Given the description of an element on the screen output the (x, y) to click on. 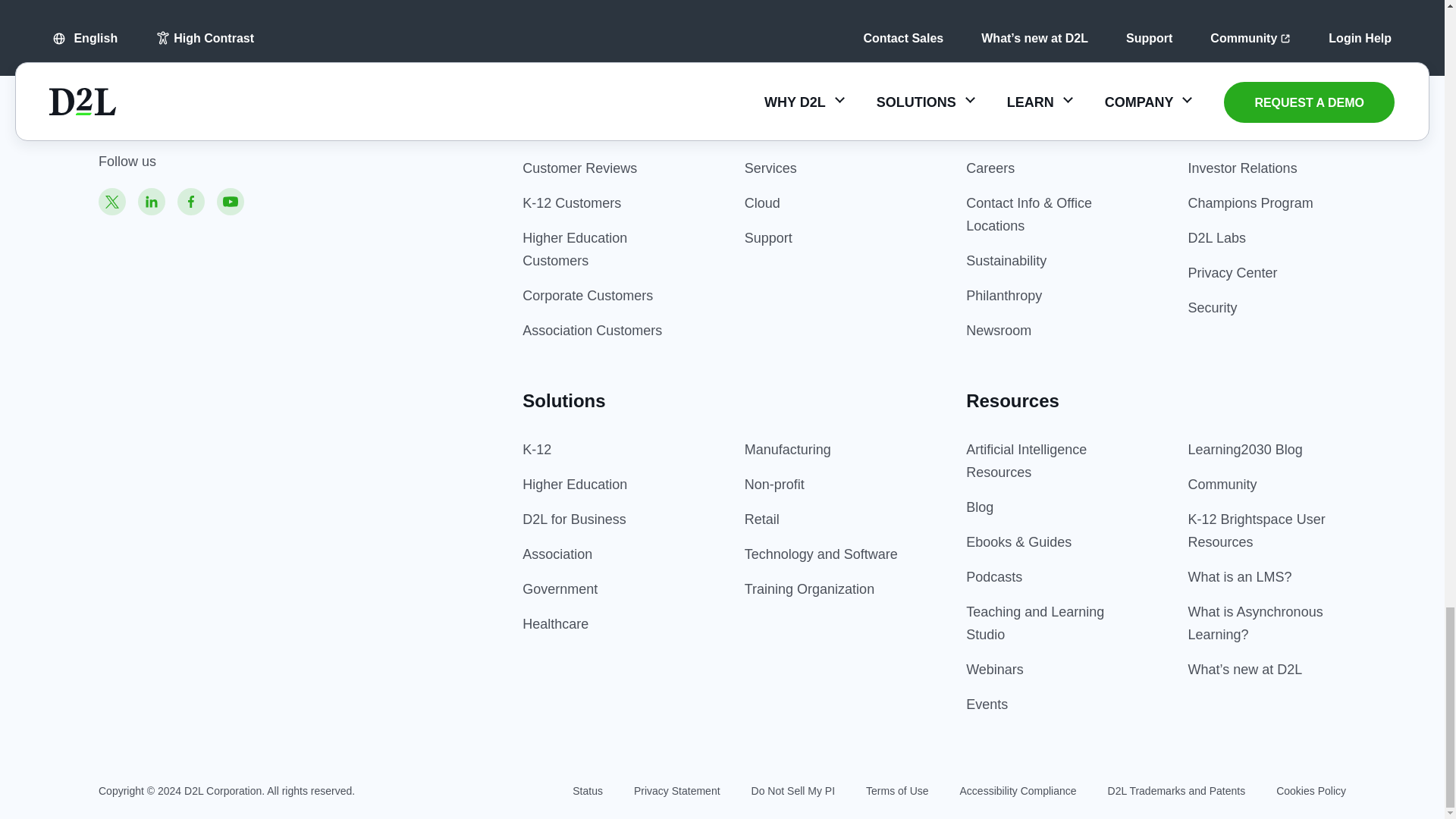
Blog (979, 507)
